Given the description of an element on the screen output the (x, y) to click on. 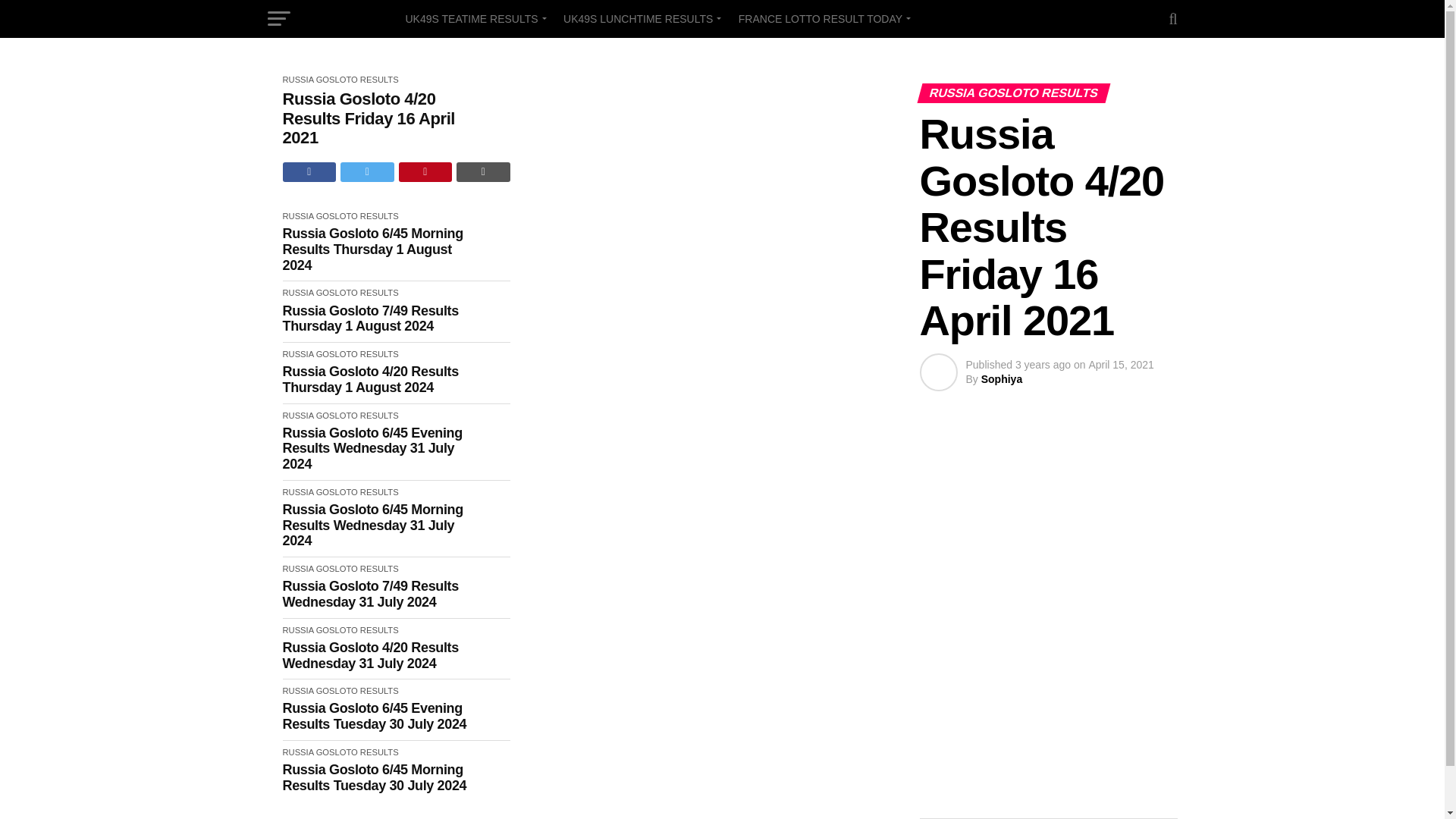
UK49S LUNCHTIME RESULTS (639, 18)
Share on Facebook (309, 171)
RUSSIA GOSLOTO RESULTS (339, 79)
Tweet This Post (367, 171)
Pin This Post (425, 171)
UK49S TEATIME RESULTS (473, 18)
RUSSIA GOSLOTO RESULTS (339, 215)
FRANCE LOTTO RESULT TODAY (822, 18)
RUSSIA GOSLOTO RESULTS (339, 292)
